Given the description of an element on the screen output the (x, y) to click on. 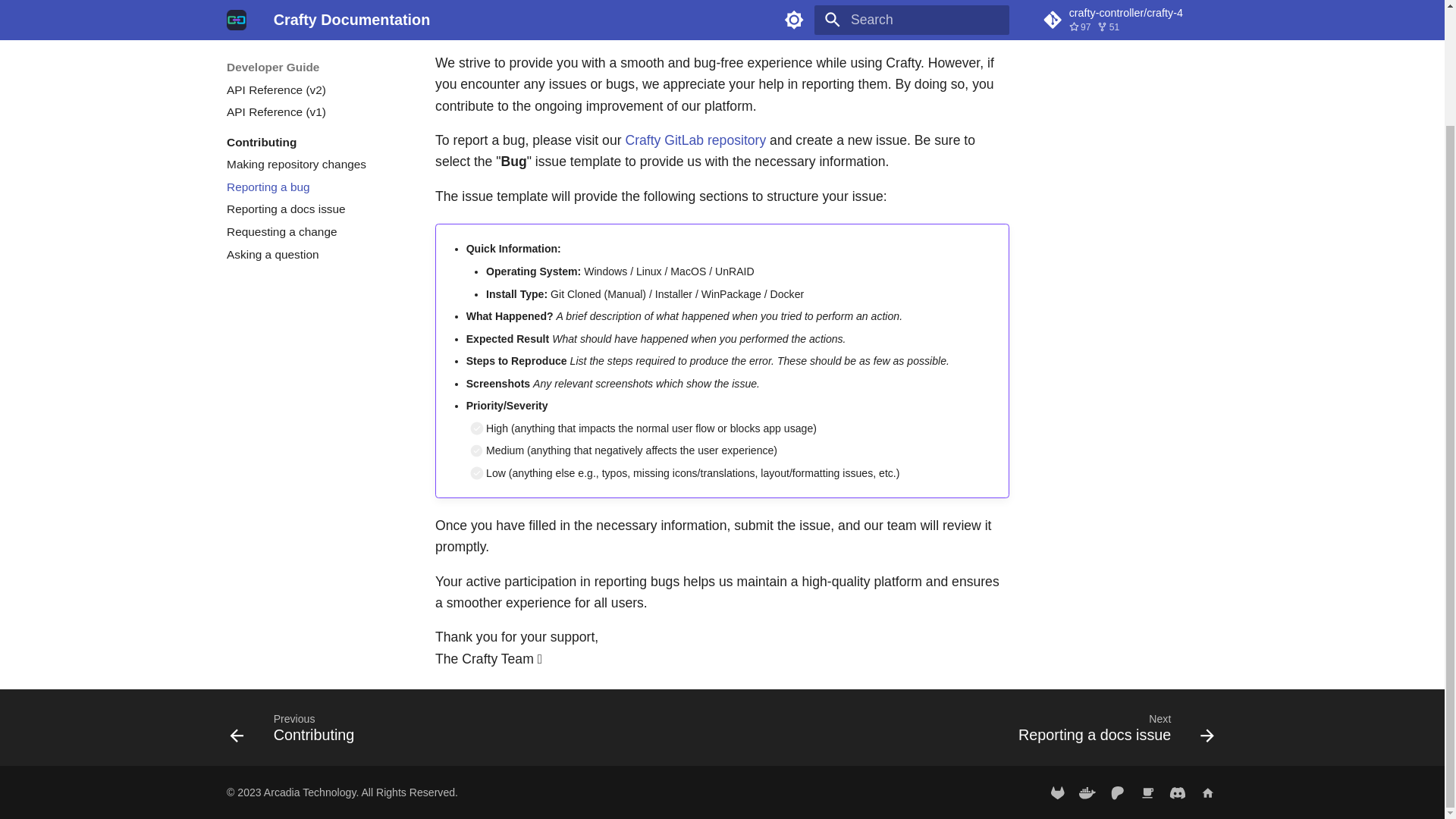
craftycontrol.com (1207, 792)
Reporting a bug (314, 114)
discord.gg (1177, 792)
www.patreon.com (1117, 792)
View source of this page (999, 6)
Contributing (314, 70)
Making repository changes (314, 92)
gitlab.com (1056, 792)
hub.docker.com (1087, 792)
ko-fi.com (1147, 792)
